Given the description of an element on the screen output the (x, y) to click on. 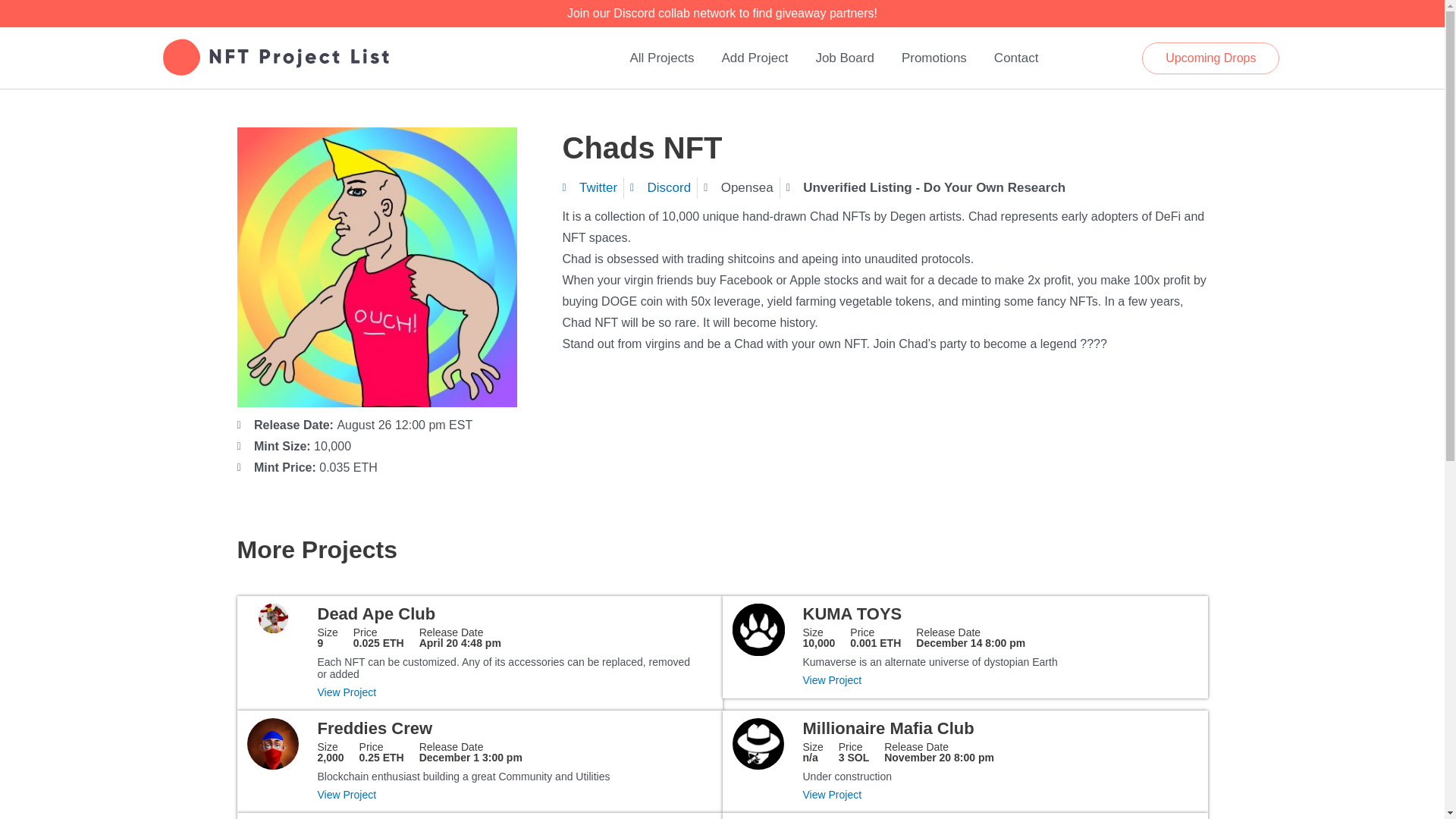
KUMA TOYS (851, 613)
View Project (470, 752)
All Projects (994, 794)
Add Project (378, 637)
Discord (661, 58)
Promotions (853, 752)
